Given the description of an element on the screen output the (x, y) to click on. 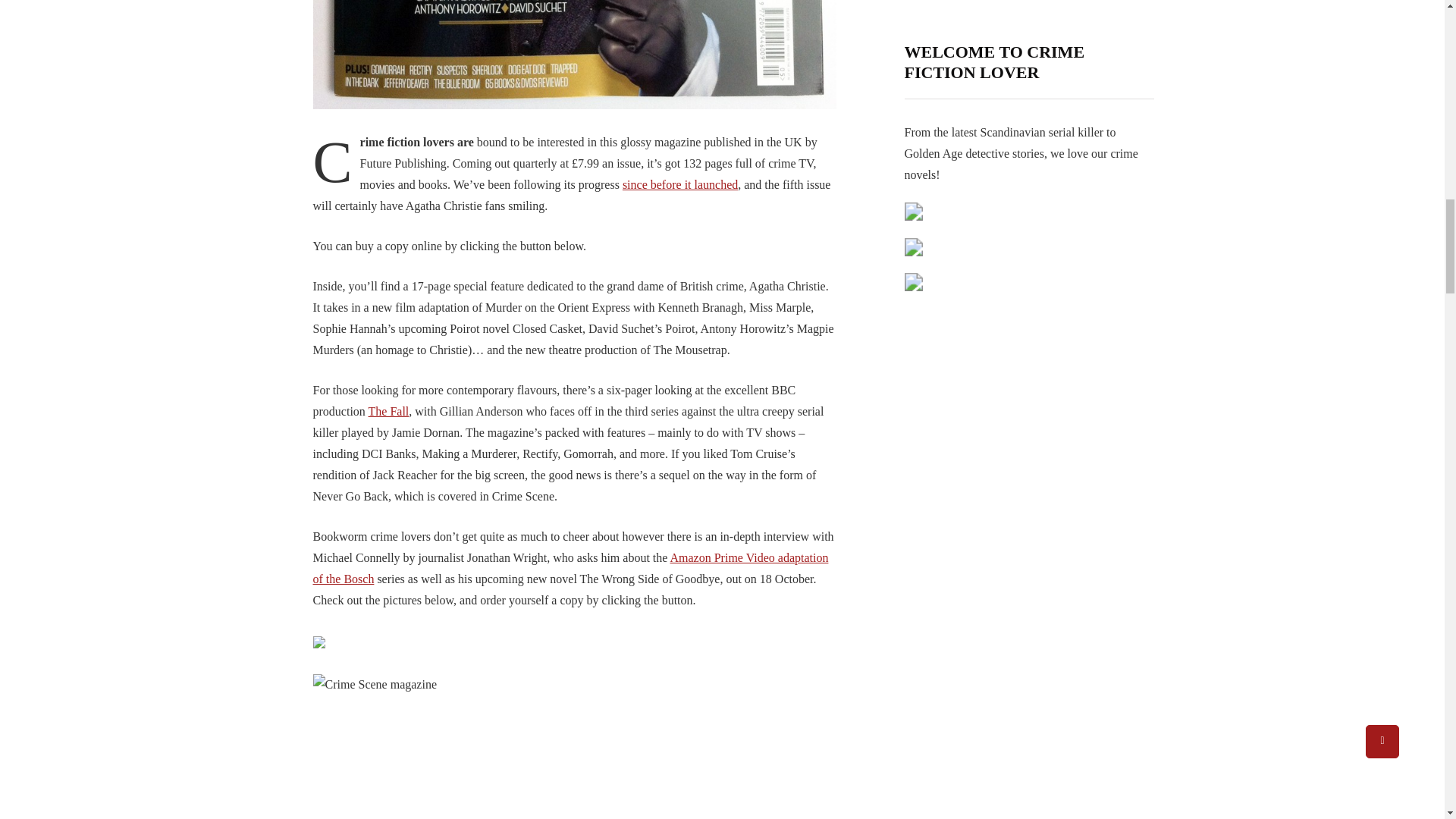
since before it launched (680, 184)
The Fall (388, 410)
Amazon Prime Video adaptation of the Bosch (570, 568)
